Given the description of an element on the screen output the (x, y) to click on. 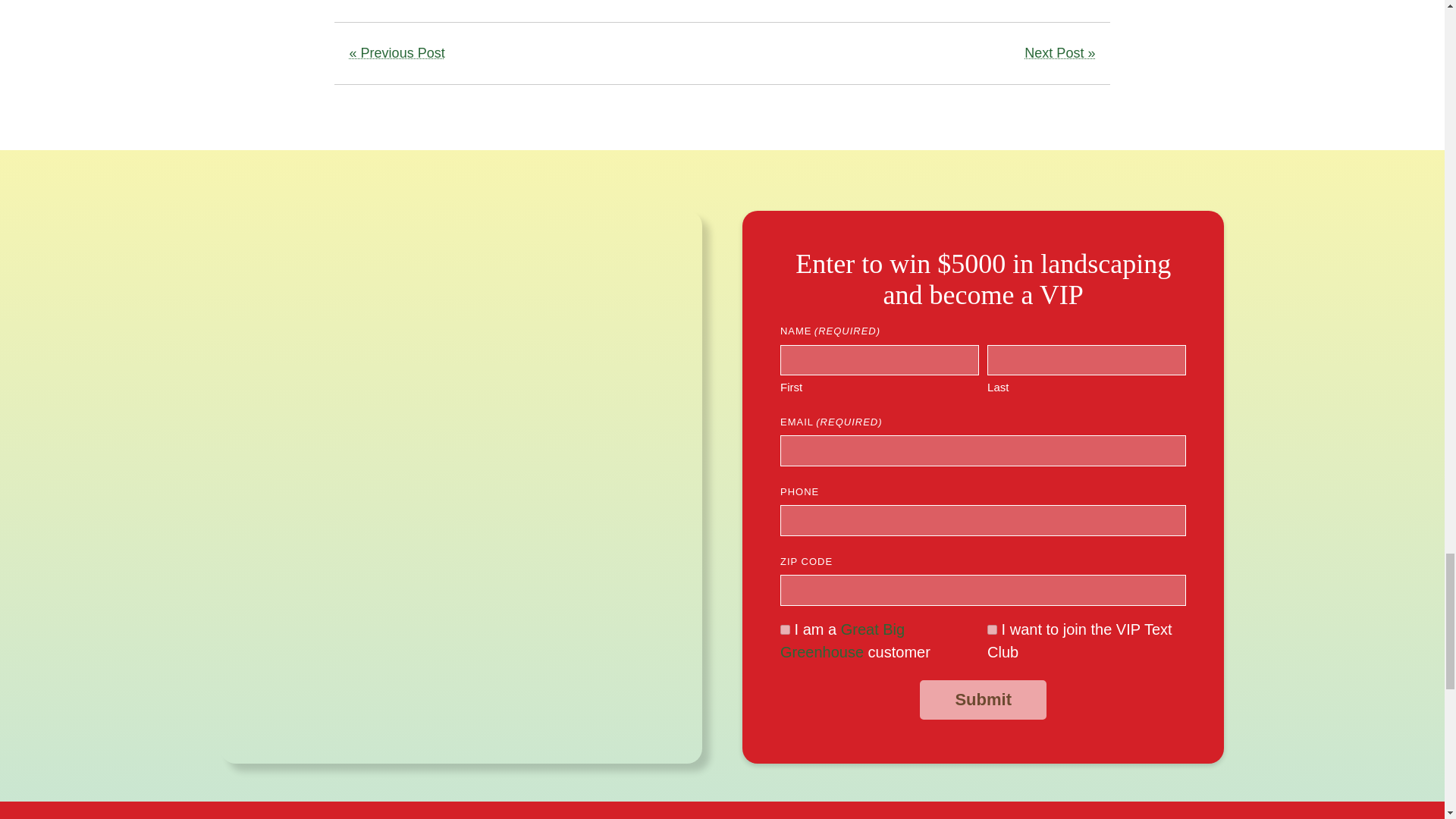
Submit (983, 699)
1 (992, 629)
1 (785, 629)
